Given the description of an element on the screen output the (x, y) to click on. 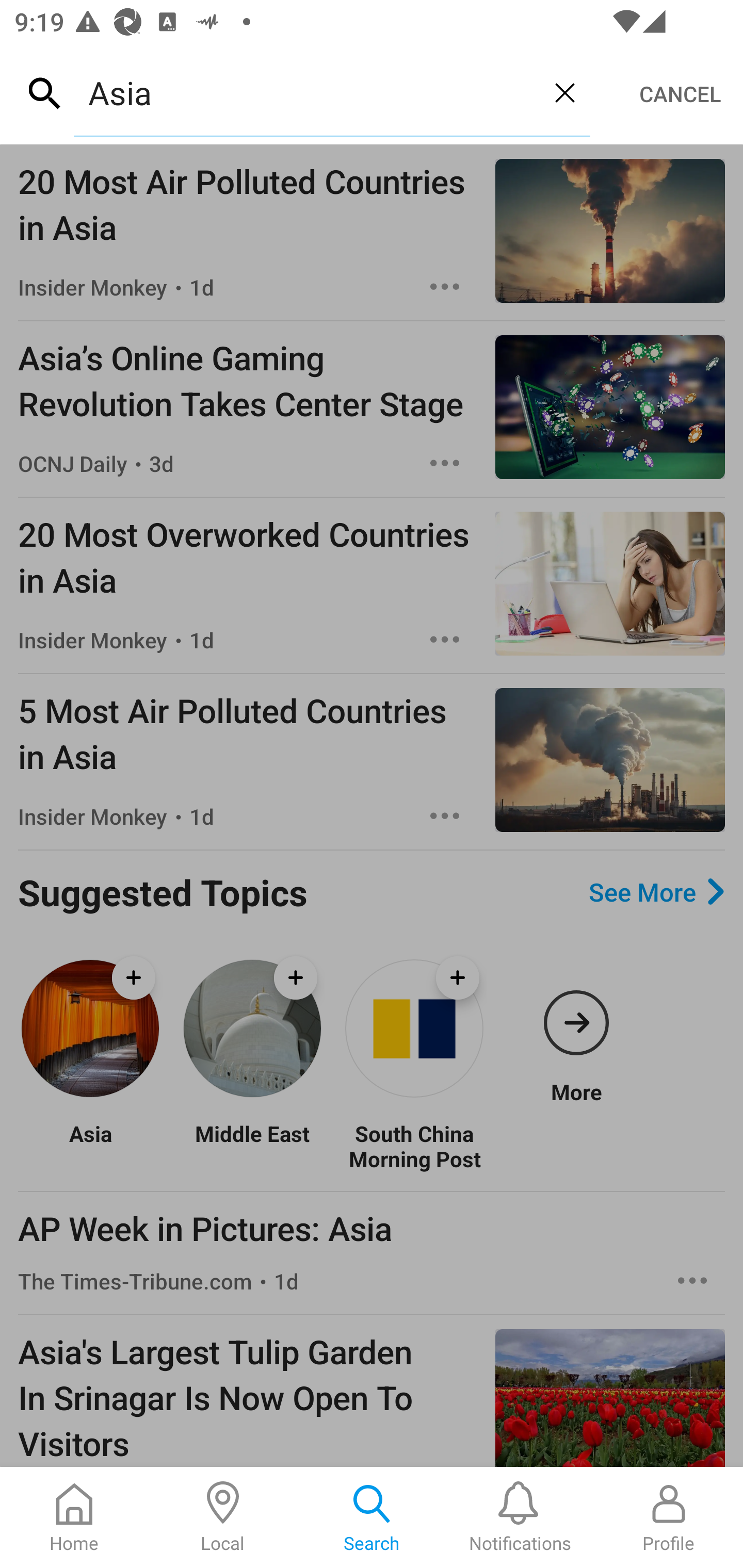
Clear query (564, 92)
CANCEL (680, 93)
Asia (306, 92)
Options (444, 286)
Options (444, 463)
Options (444, 639)
Options (444, 815)
See More (656, 891)
More (575, 1028)
Asia (89, 1144)
Middle East (251, 1144)
South China Morning Post (413, 1144)
Options (692, 1281)
Home (74, 1517)
Local (222, 1517)
Notifications (519, 1517)
Profile (668, 1517)
